Given the description of an element on the screen output the (x, y) to click on. 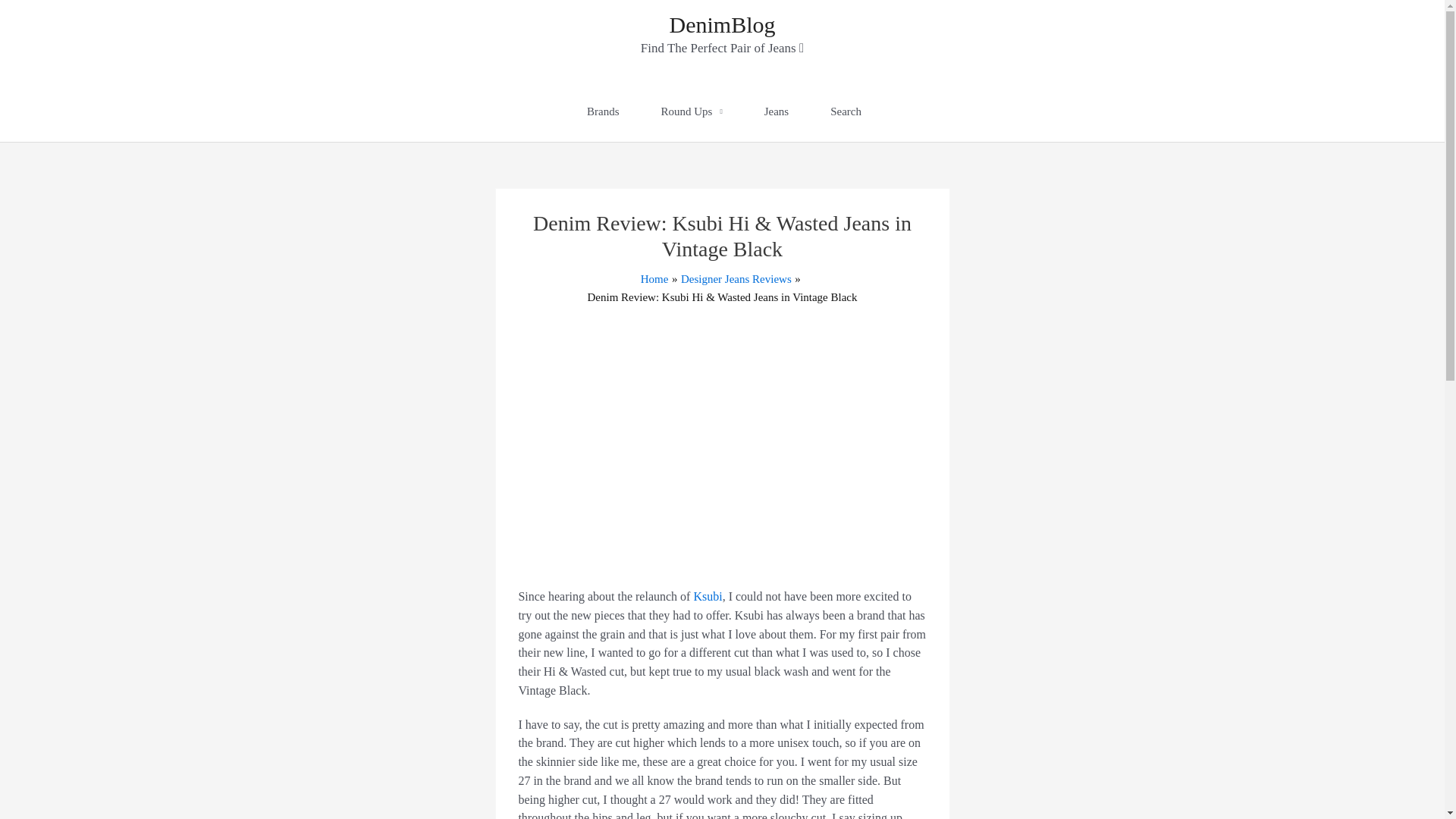
Jeans (776, 110)
Search (845, 110)
Designer Jeans Reviews (736, 278)
Ksubi (707, 595)
Brands (602, 110)
Home (654, 278)
DenimBlog (721, 24)
Round Ups (691, 110)
